Given the description of an element on the screen output the (x, y) to click on. 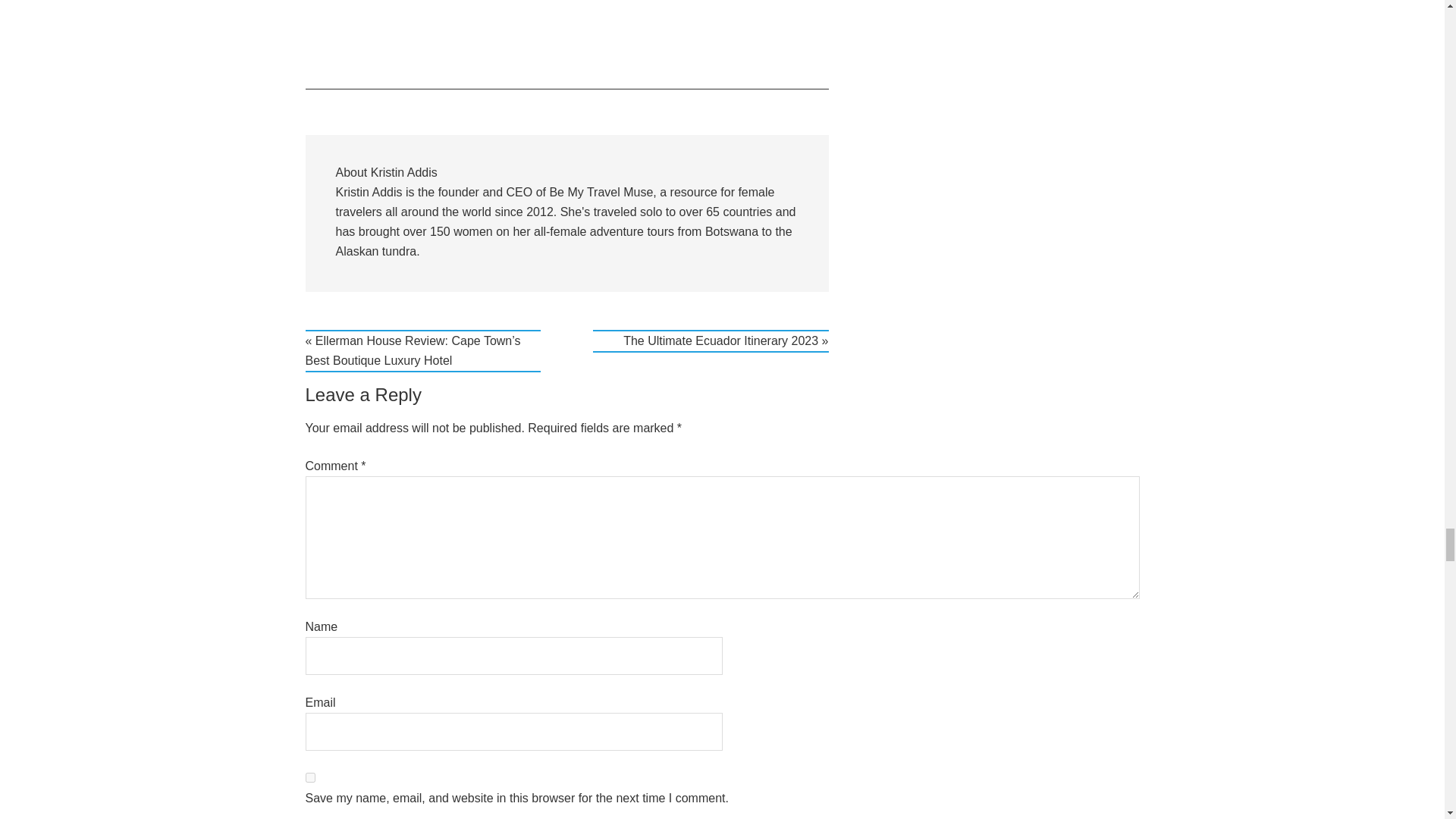
yes (309, 777)
